Given the description of an element on the screen output the (x, y) to click on. 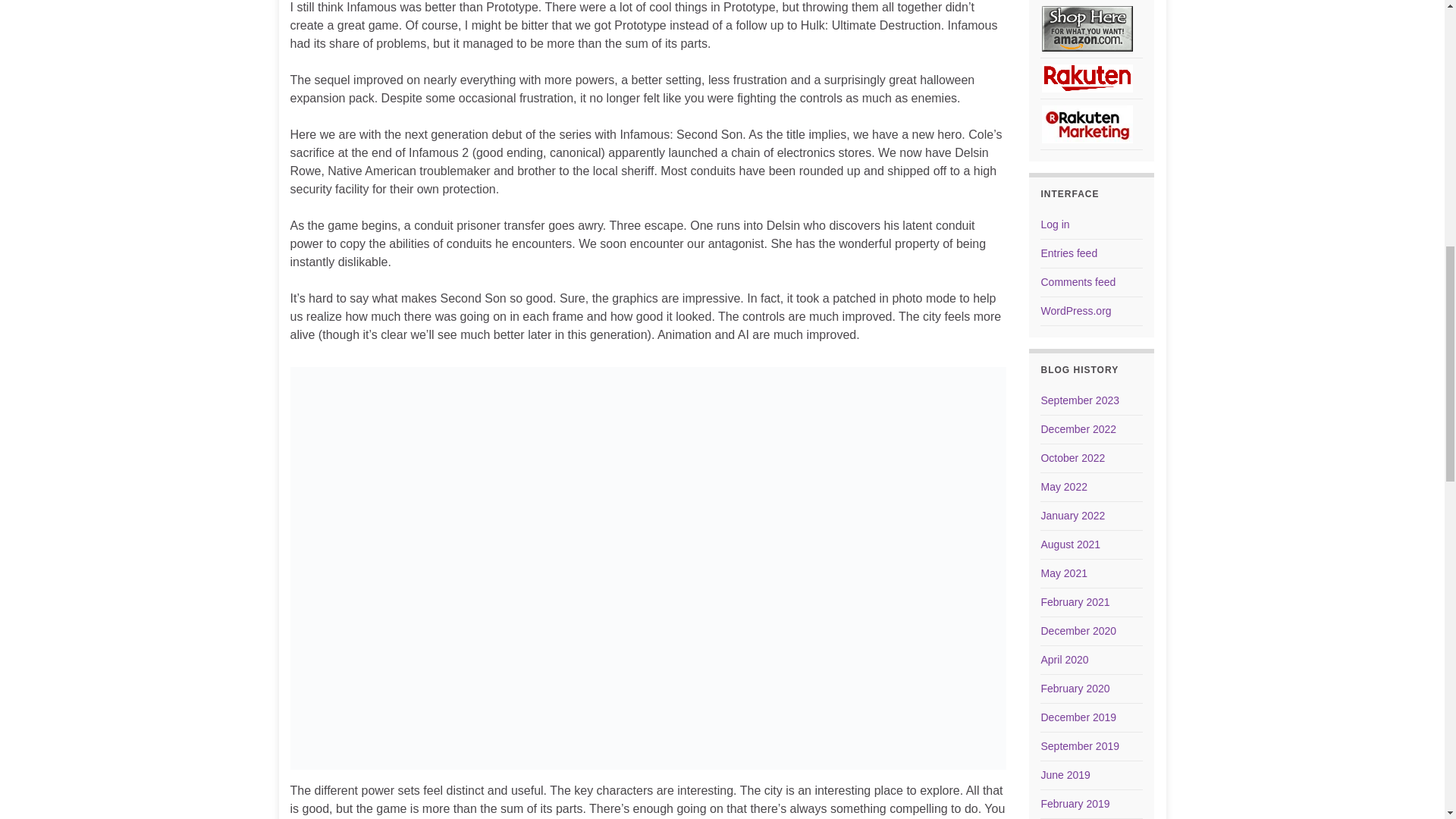
Rakuten Marketing Welcome Program (1087, 123)
Amazon Online Shopping (1087, 28)
Rakuten Marketing Welcome Program (1087, 124)
Comments feed (1078, 282)
September 2023 (1080, 399)
WordPress.org (1075, 310)
Entries feed (1069, 253)
Amazon Online Shopping (1087, 28)
Log in (1054, 224)
December 2022 (1078, 428)
